Given the description of an element on the screen output the (x, y) to click on. 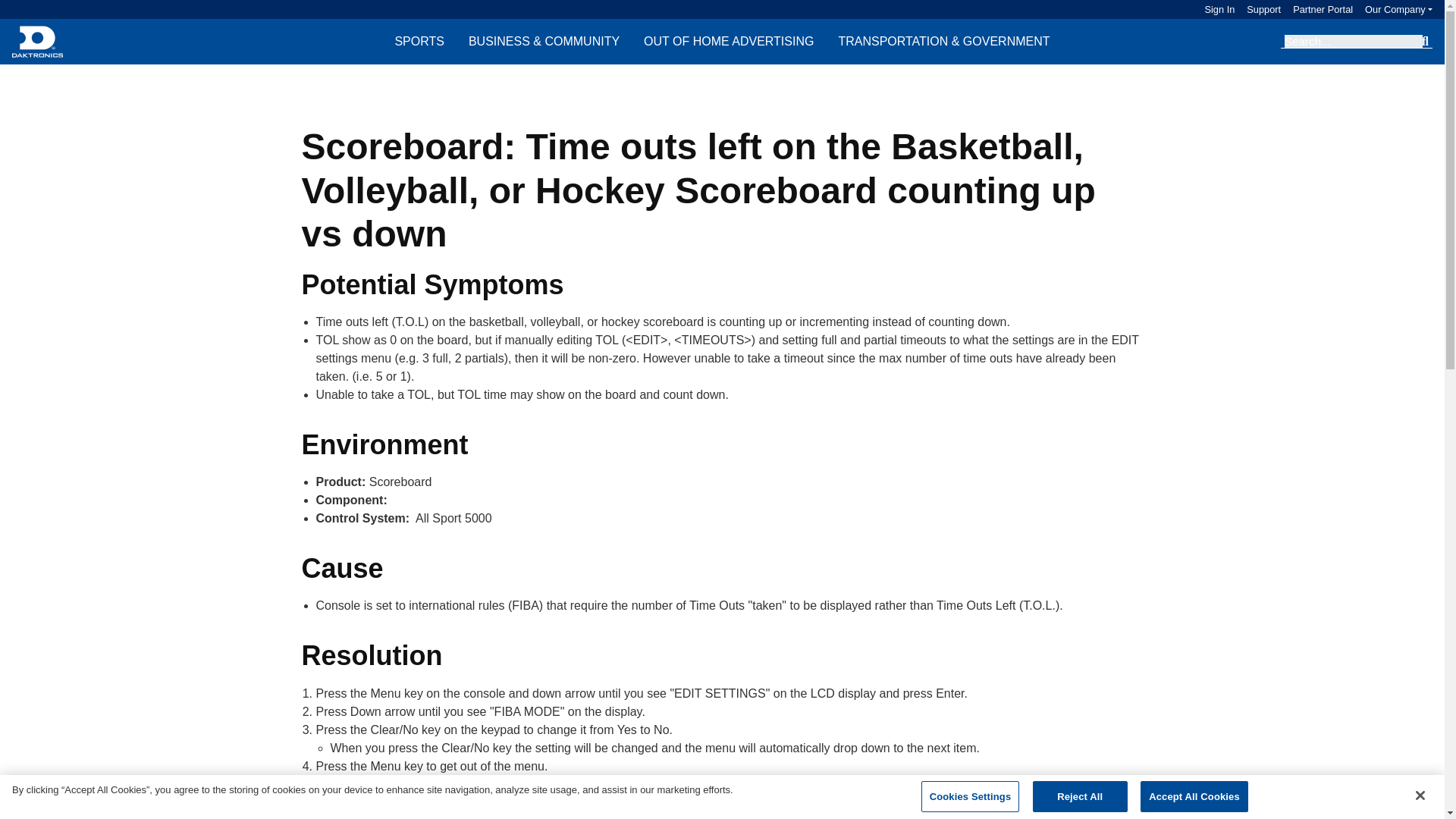
Sign In (1219, 9)
Partner Portal (1316, 9)
Support (1257, 9)
Our Company (1398, 9)
SPORTS (419, 41)
Daktronics (36, 41)
